Given the description of an element on the screen output the (x, y) to click on. 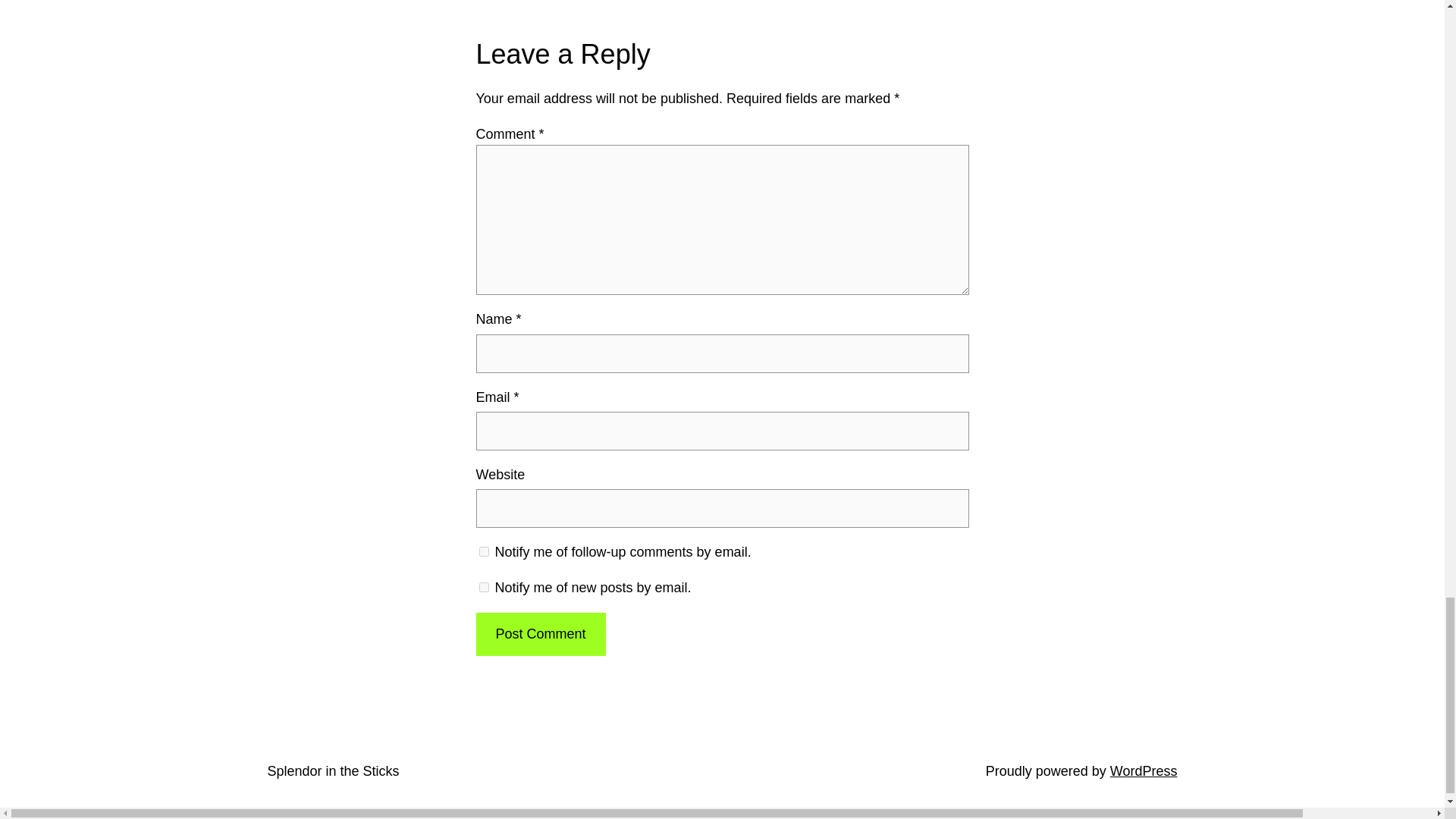
Splendor in the Sticks (332, 770)
subscribe (484, 587)
Post Comment (540, 634)
Post Comment (540, 634)
subscribe (484, 551)
